Given the description of an element on the screen output the (x, y) to click on. 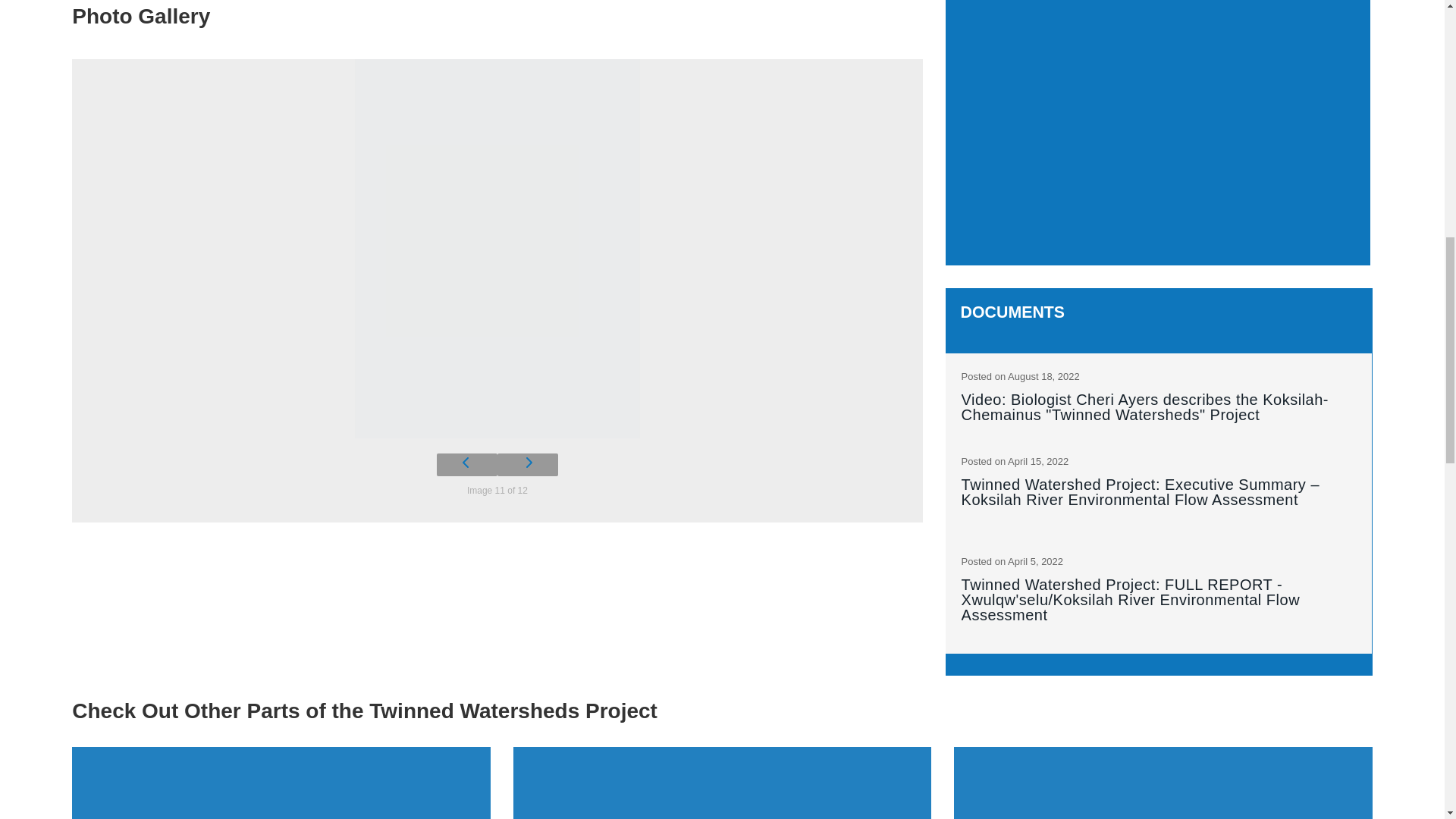
YouTube video (1158, 131)
